Given the description of an element on the screen output the (x, y) to click on. 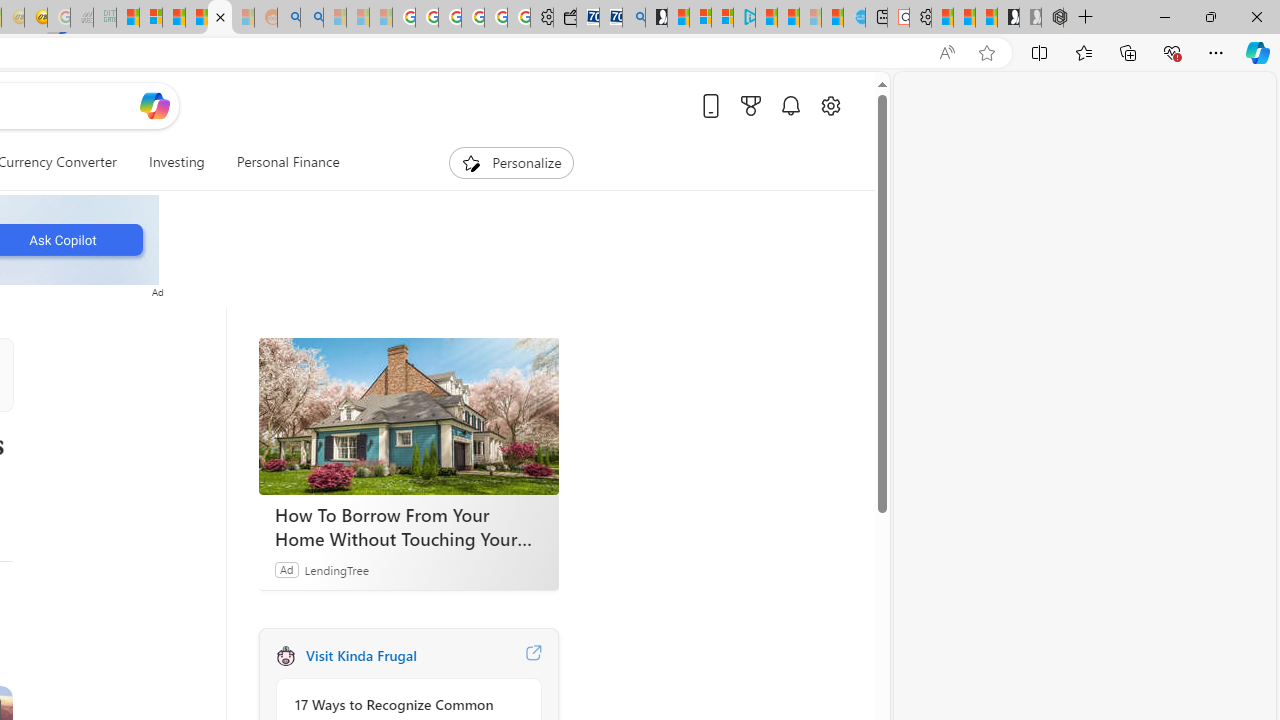
Navy Quest (81, 17)
Personal Finance (280, 162)
Microsoft Start - Sleeping (810, 17)
